Given the description of an element on the screen output the (x, y) to click on. 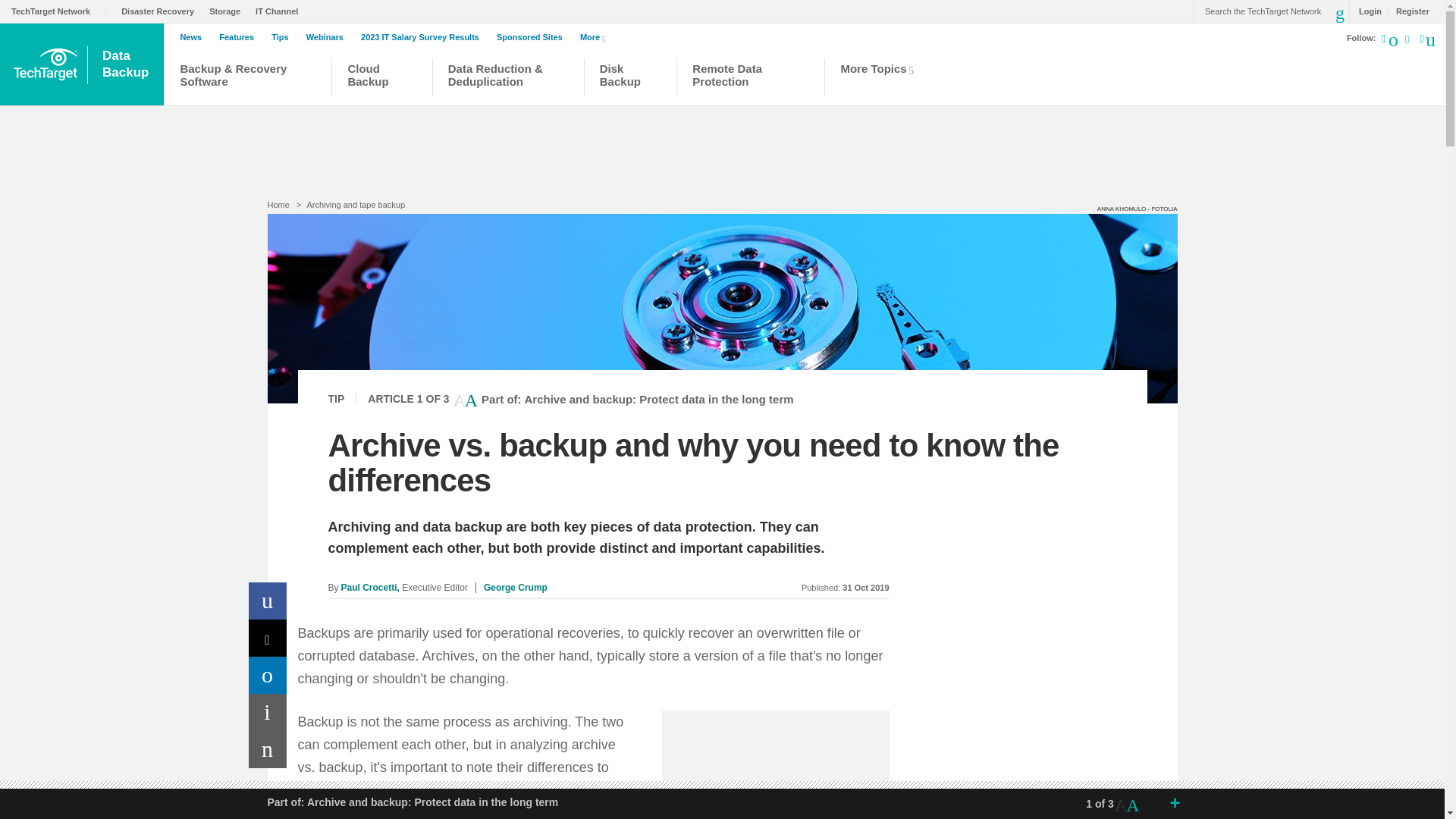
IT Channel (280, 10)
More Topics (126, 64)
Storage (881, 79)
Remote Data Protection (228, 10)
TechTarget Network (751, 79)
Sponsored Sites (58, 10)
Disaster Recovery (533, 36)
News (161, 10)
Tips (194, 36)
